Given the description of an element on the screen output the (x, y) to click on. 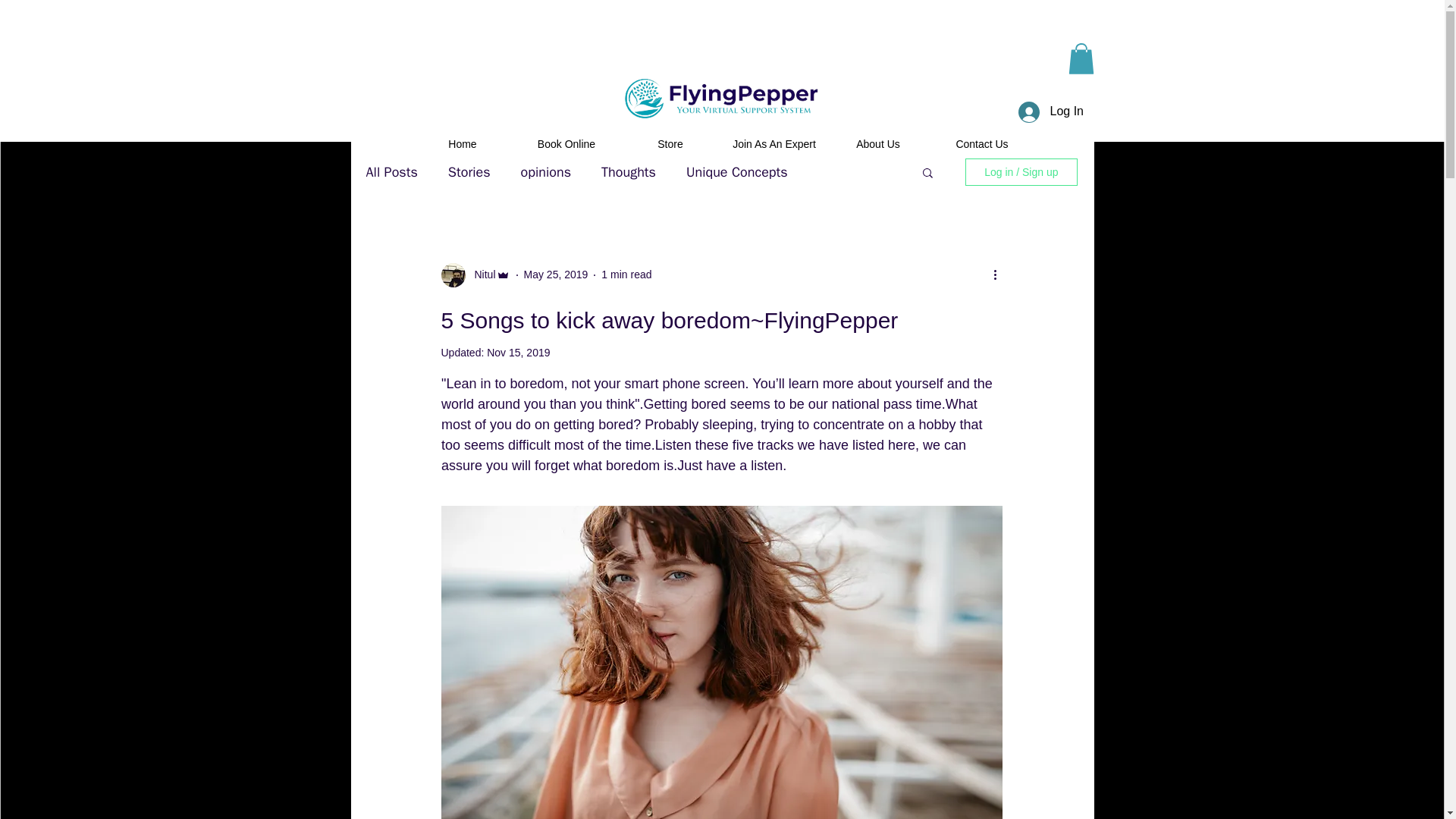
Nitul (476, 274)
Contact Us (981, 143)
Unique Concepts (736, 171)
Home (462, 143)
Nitul (480, 274)
About Us (878, 143)
New logo background.png (722, 98)
Nov 15, 2019 (518, 352)
Log In (1048, 112)
1 min read (625, 274)
Book Online (565, 143)
All Posts (390, 171)
Store (670, 143)
Thoughts (628, 171)
opinions (545, 171)
